Given the description of an element on the screen output the (x, y) to click on. 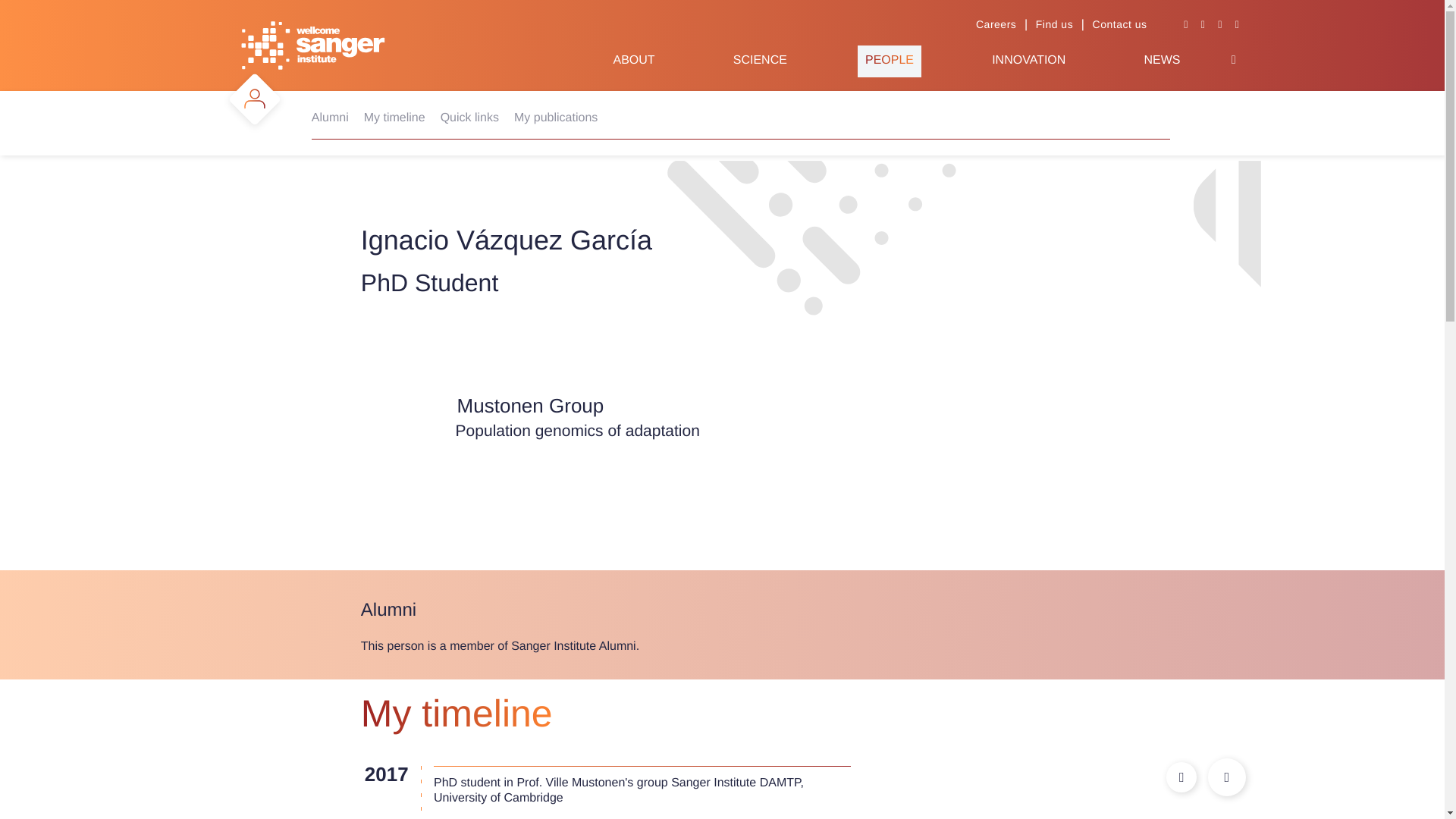
news (1160, 60)
science (760, 60)
Careers (995, 24)
Search (1233, 60)
PEOPLE (889, 60)
Wellcome Sanger Institute (313, 45)
ABOUT (632, 60)
SCIENCE (760, 60)
innovation (1028, 60)
about (632, 60)
Contact us (1119, 24)
Find us (1053, 24)
